Given the description of an element on the screen output the (x, y) to click on. 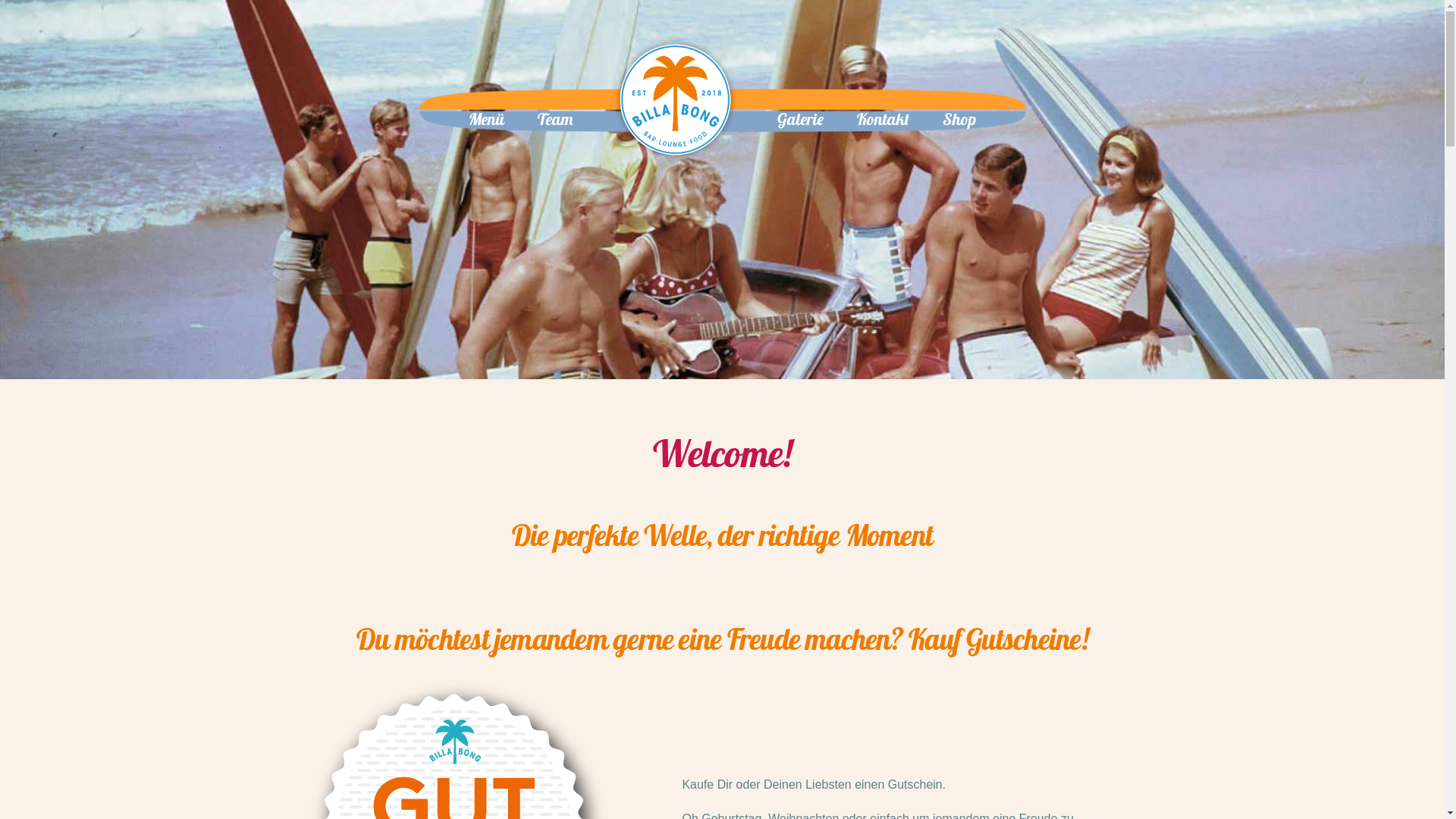
Shop Element type: text (958, 119)
Galerie Element type: text (800, 119)
Team Element type: text (554, 119)
Billabong Bar Element type: hover (674, 100)
Kontakt Element type: text (882, 119)
